Given the description of an element on the screen output the (x, y) to click on. 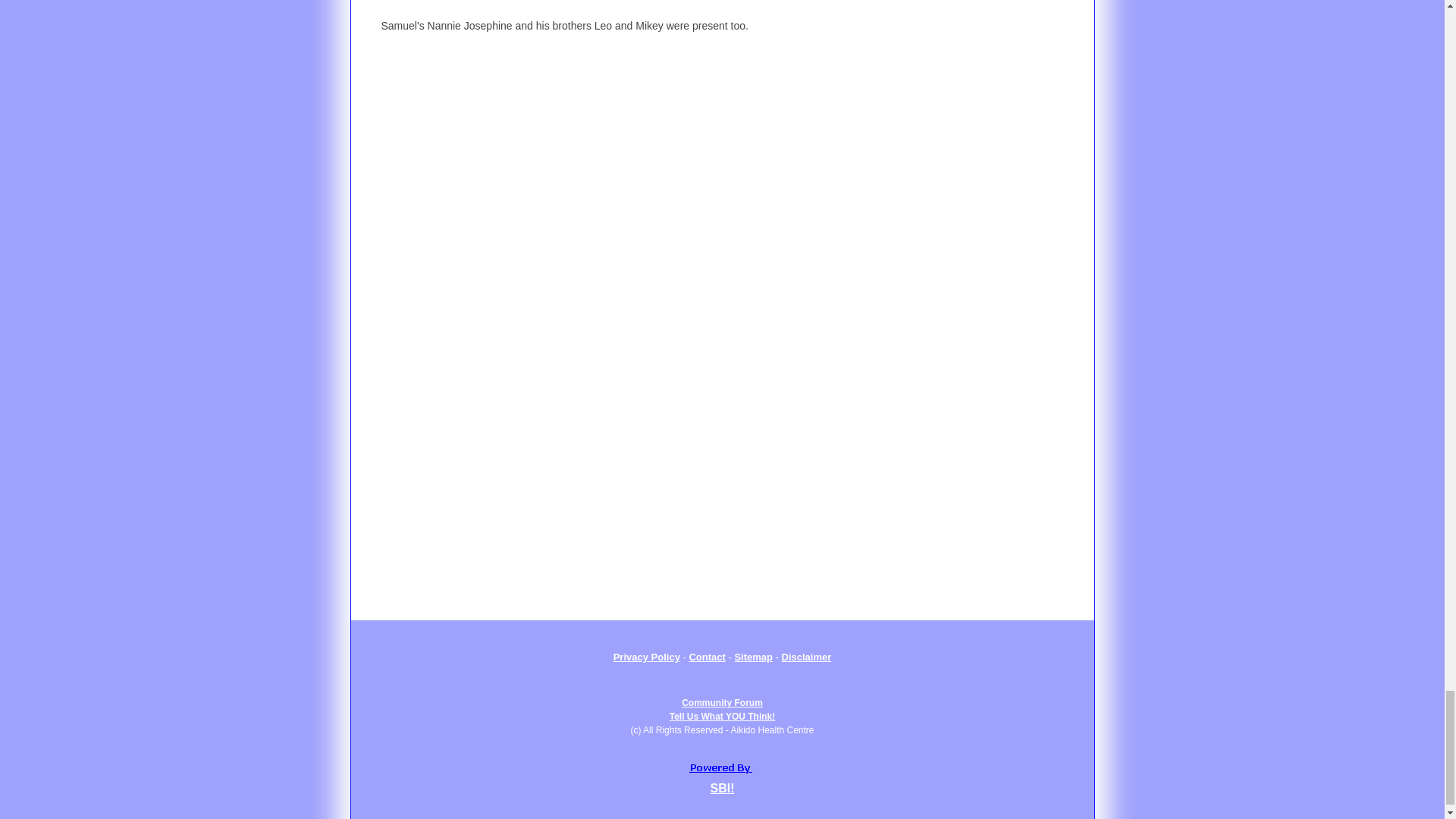
Privacy Policy (645, 656)
Sitemap (722, 709)
Disclaimer (753, 656)
Contact (806, 656)
